Given the description of an element on the screen output the (x, y) to click on. 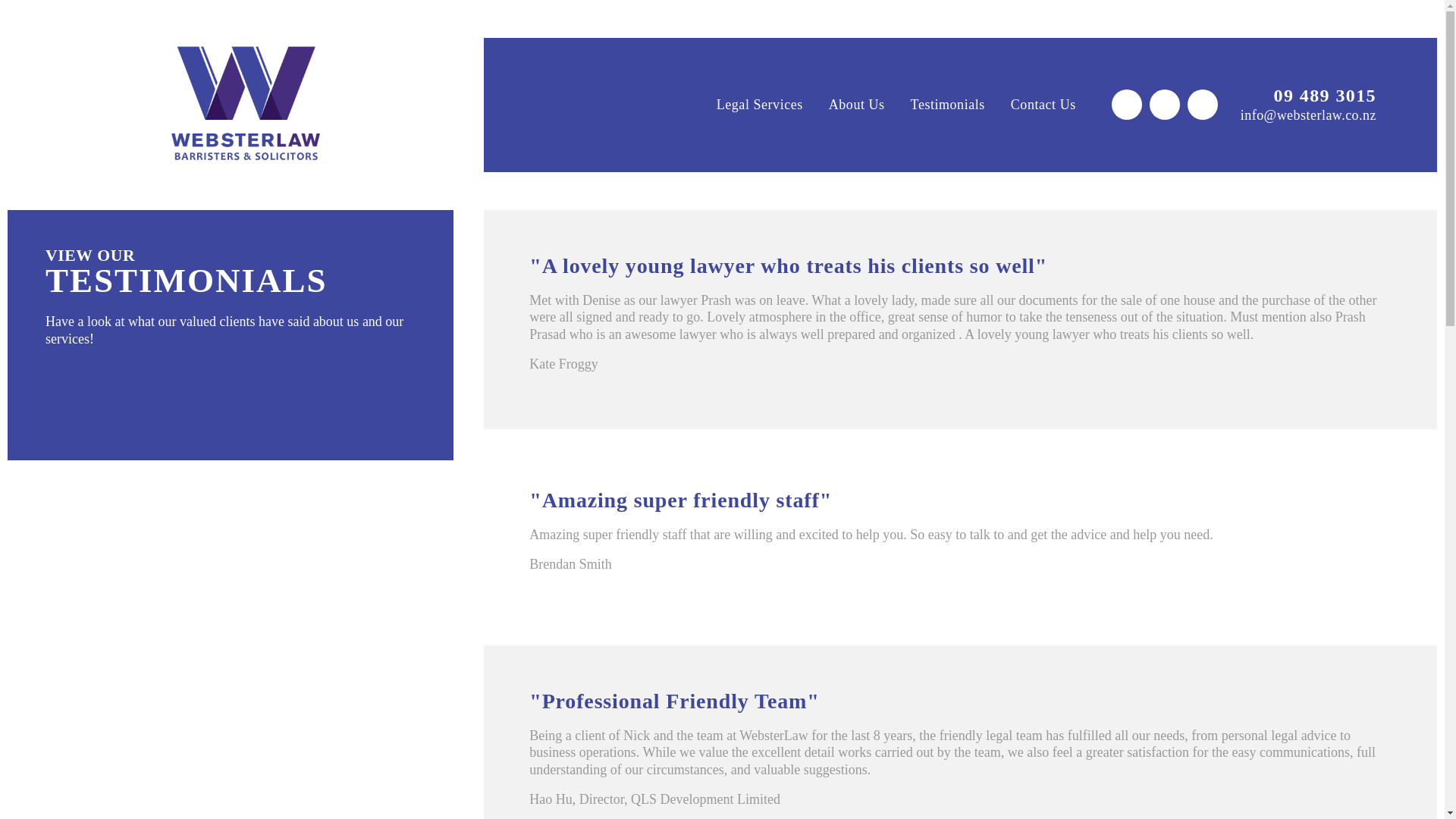
About Us (856, 104)
09 489 3015 (1307, 95)
Contact Us (1043, 104)
Legal Services (759, 104)
Testimonials (947, 104)
